Given the description of an element on the screen output the (x, y) to click on. 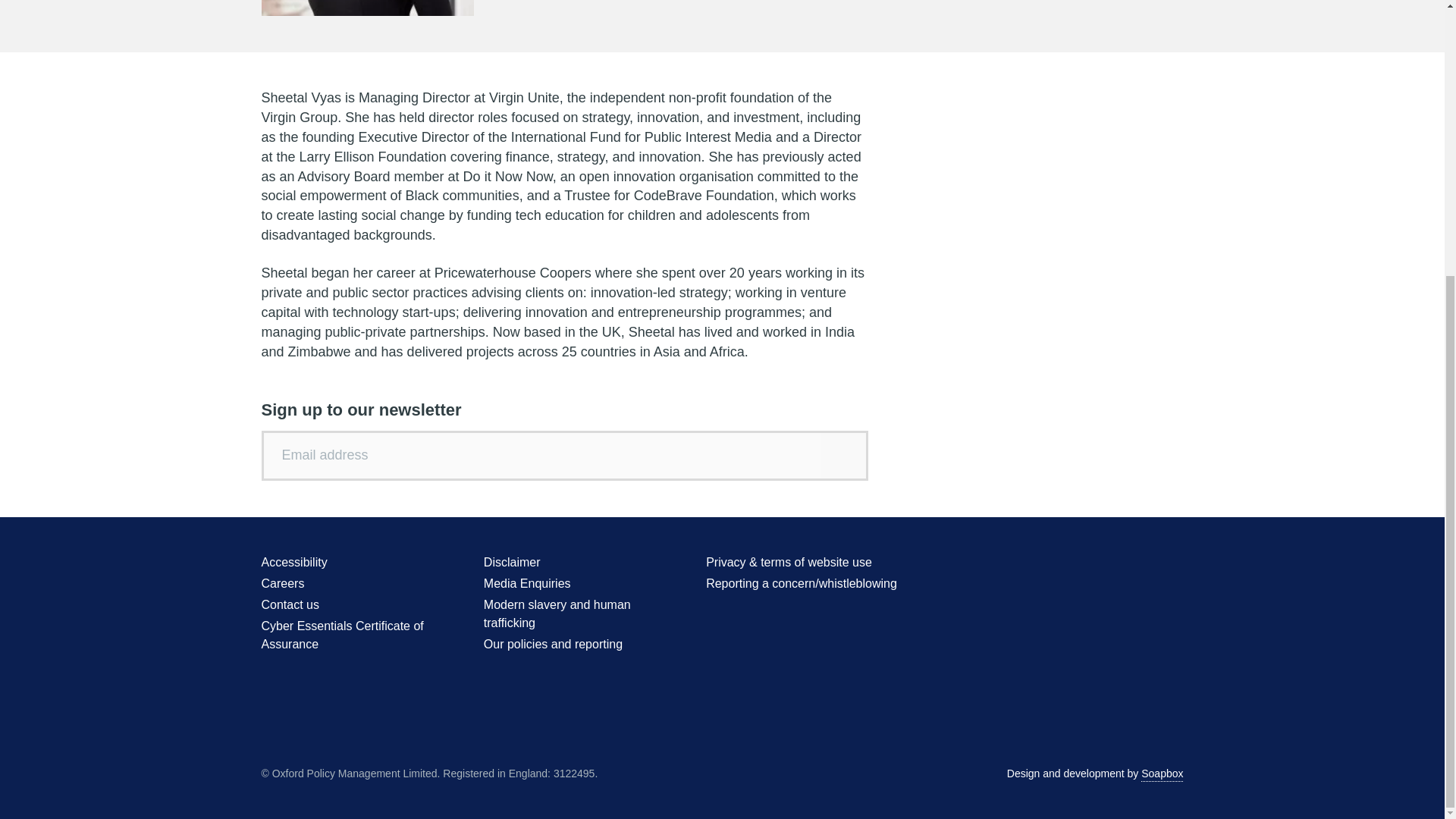
YouTube (1115, 564)
LinkedIn (1143, 564)
Facebook (1088, 564)
Twitter (1060, 564)
Vimeo (1172, 564)
